Given the description of an element on the screen output the (x, y) to click on. 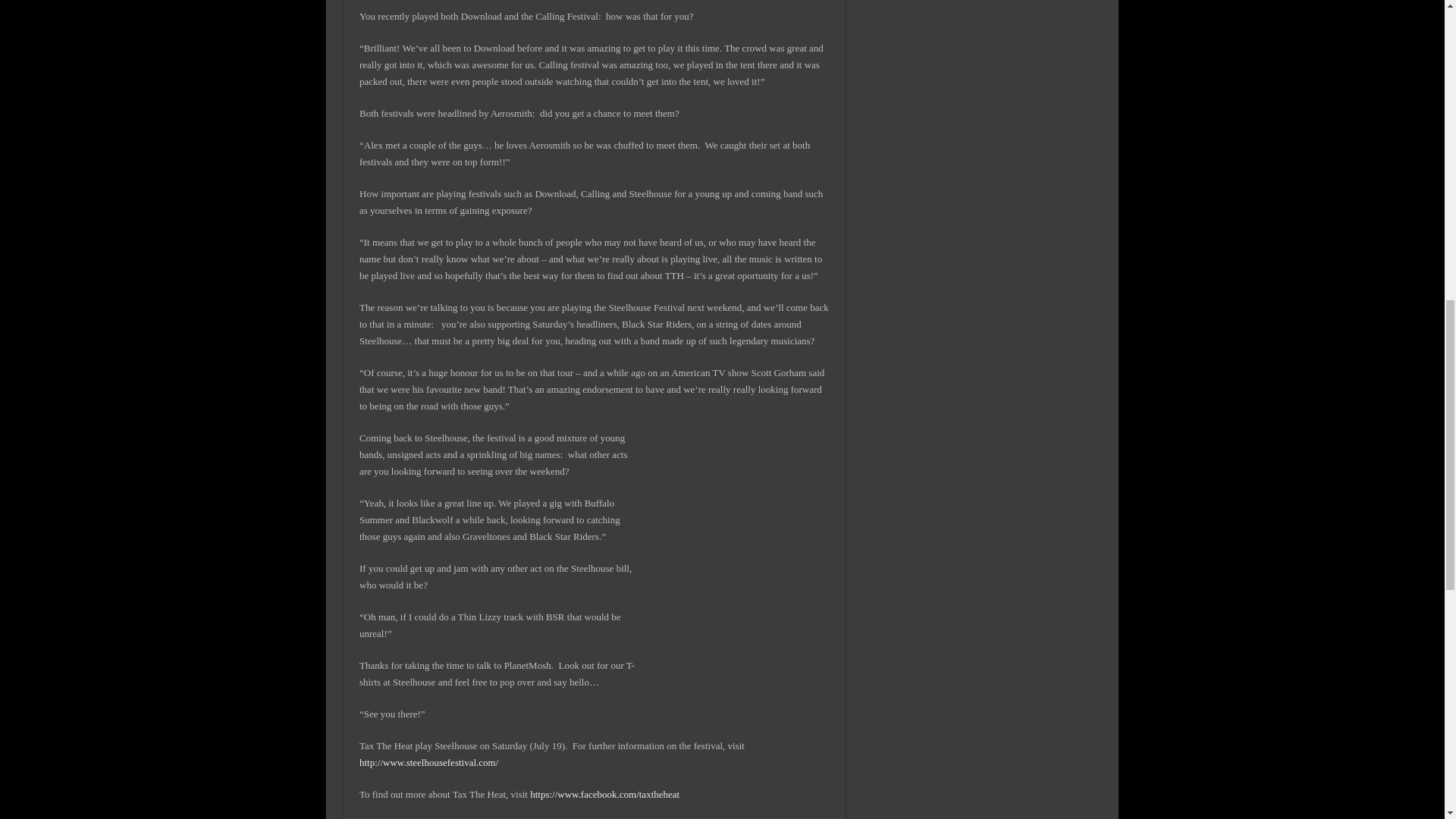
Tax The Heat Facebook page (604, 794)
Scroll To Top (1421, 60)
Steelhouse Festival official website (428, 762)
